Given the description of an element on the screen output the (x, y) to click on. 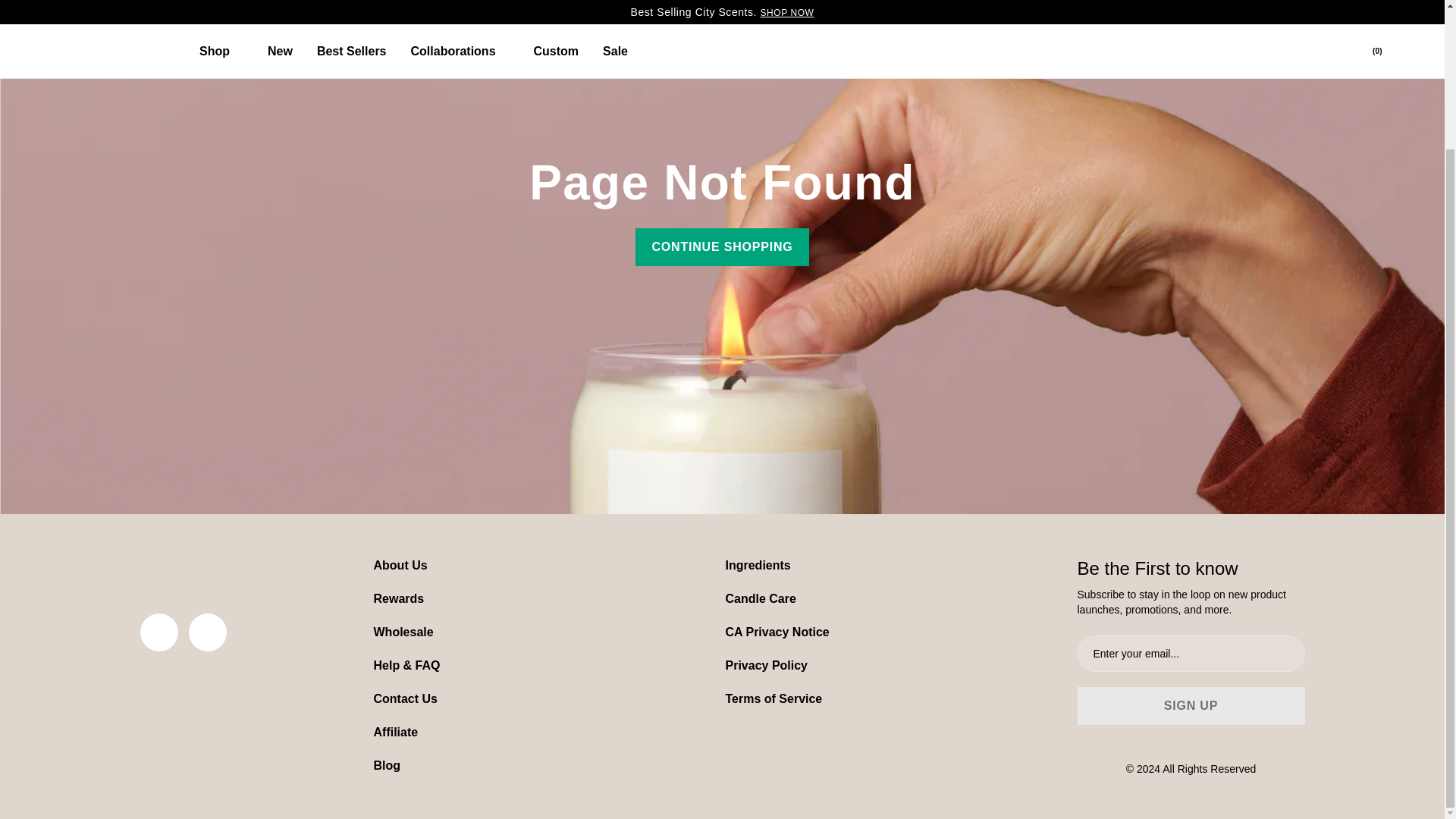
Candle Care (759, 598)
Wholesale (402, 631)
Blog (386, 765)
About Us (399, 564)
Terms of Service (773, 698)
Affiliate (394, 731)
Ingredients (757, 564)
CONTINUE SHOPPING (721, 247)
Contact Us (404, 698)
SIGN UP (1190, 705)
Privacy Policy (766, 665)
Rewards (397, 598)
CA Privacy Notice (776, 631)
